Given the description of an element on the screen output the (x, y) to click on. 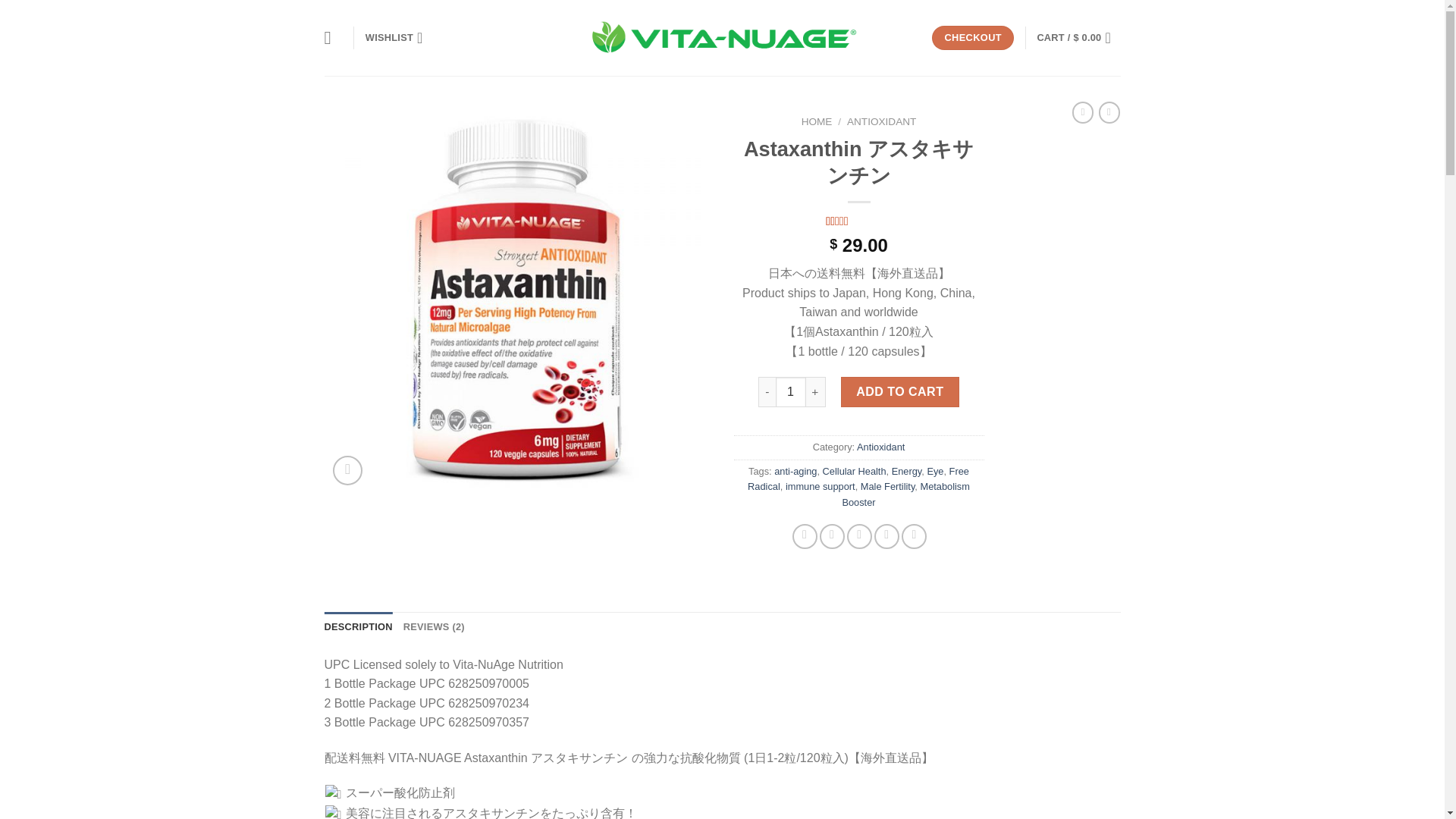
Antioxidant (880, 446)
HOME (817, 121)
Cart (1077, 37)
Vita-NuAge Nutrition - Healthy Longevity (722, 37)
Cellular Health (854, 471)
CHECKOUT (972, 37)
ADD TO CART (900, 391)
immune support (858, 221)
